Given the description of an element on the screen output the (x, y) to click on. 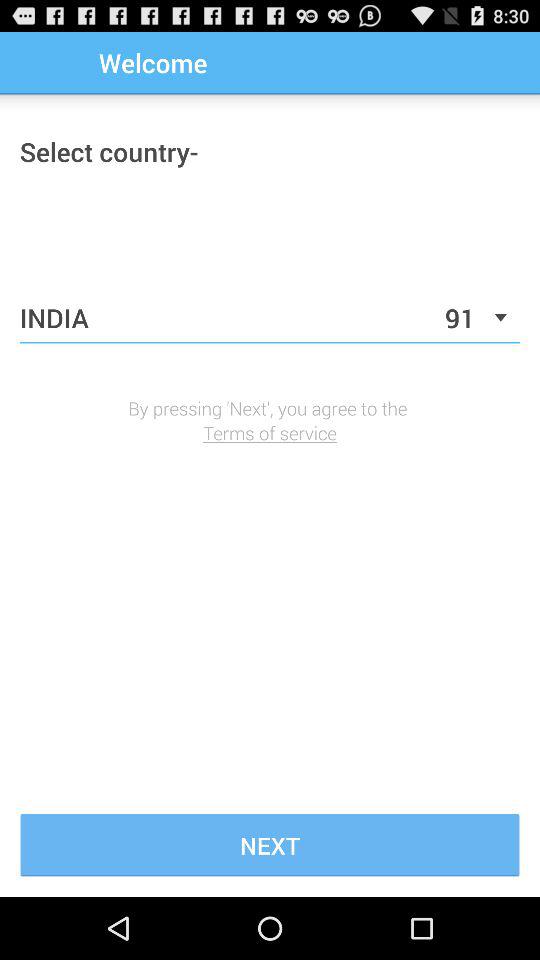
click the item above the next (269, 432)
